Given the description of an element on the screen output the (x, y) to click on. 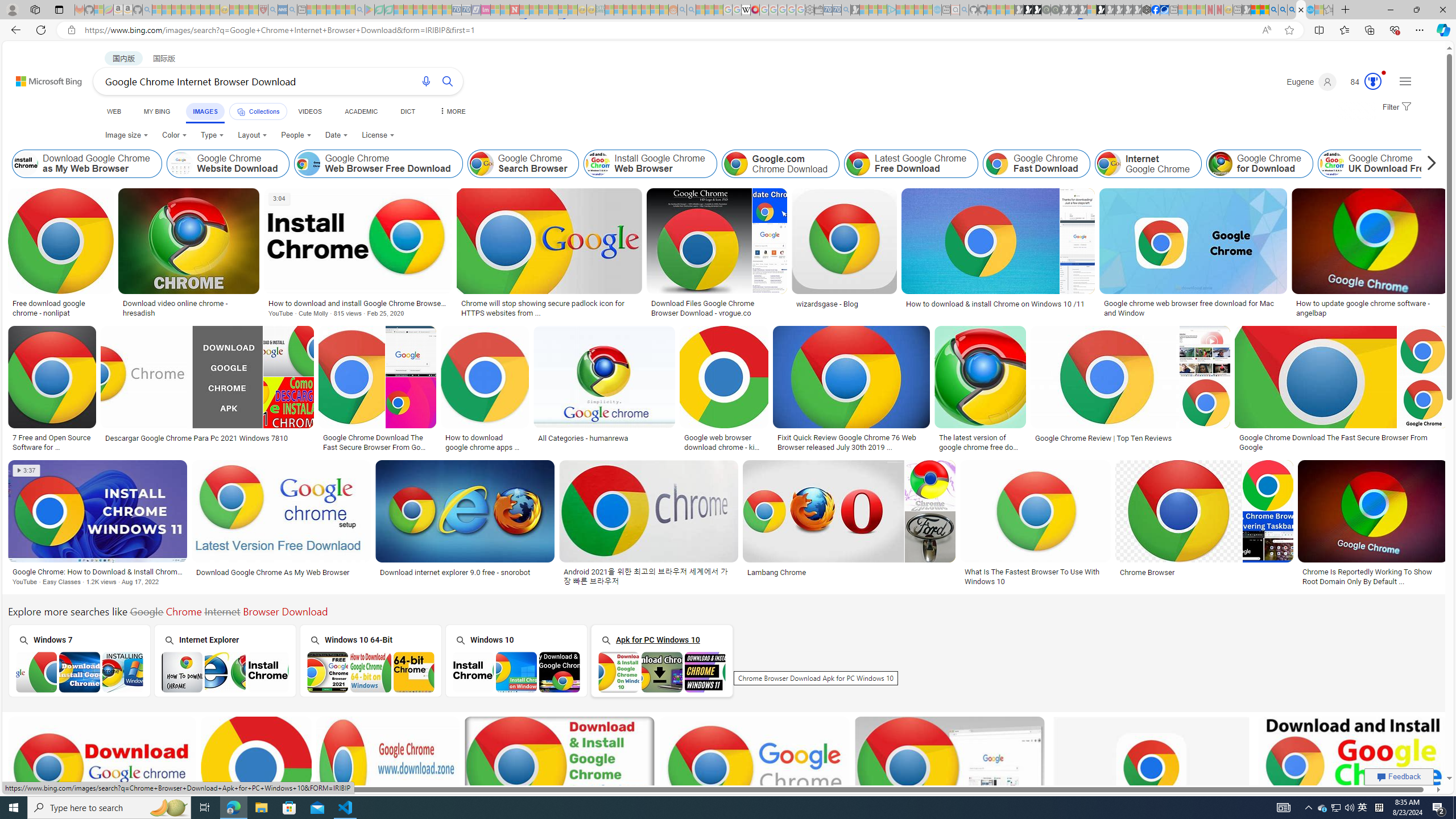
How to update google chrome software - angelbap (1368, 307)
DICT (407, 111)
Chrome BrowserSave (1206, 524)
How to download & install Chrome on Windows 10 /11 (997, 303)
Bing Real Estate - Home sales and rental listings - Sleeping (846, 9)
Eugene (1311, 81)
WEB (114, 111)
Target page - Wikipedia (745, 9)
Descargar Google Chrome Para Pc 2021 Windows 7810Save (209, 390)
Google web browser download chrome - kizacareers (723, 441)
Descargar Google Chrome Para Pc 2021 Windows 7810 (196, 437)
Services - Maintenance | Sky Blue Bikes - Sky Blue Bikes (1309, 9)
Wallet - Sleeping (818, 9)
Download Google Chrome as My Web Browser (25, 163)
